Given the description of an element on the screen output the (x, y) to click on. 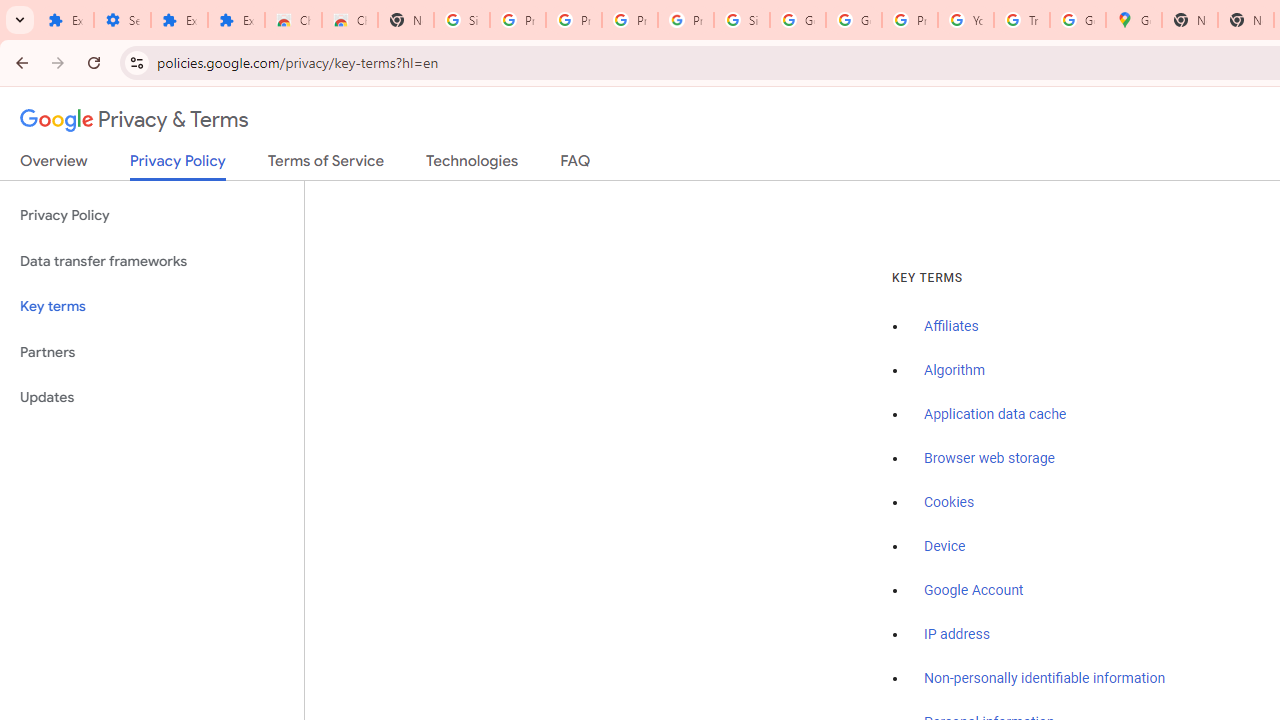
Chrome Web Store (293, 20)
Device (945, 546)
IP address (956, 634)
Non-personally identifiable information (1045, 679)
Extensions (235, 20)
Chrome Web Store - Themes (349, 20)
Application data cache (995, 415)
